Given the description of an element on the screen output the (x, y) to click on. 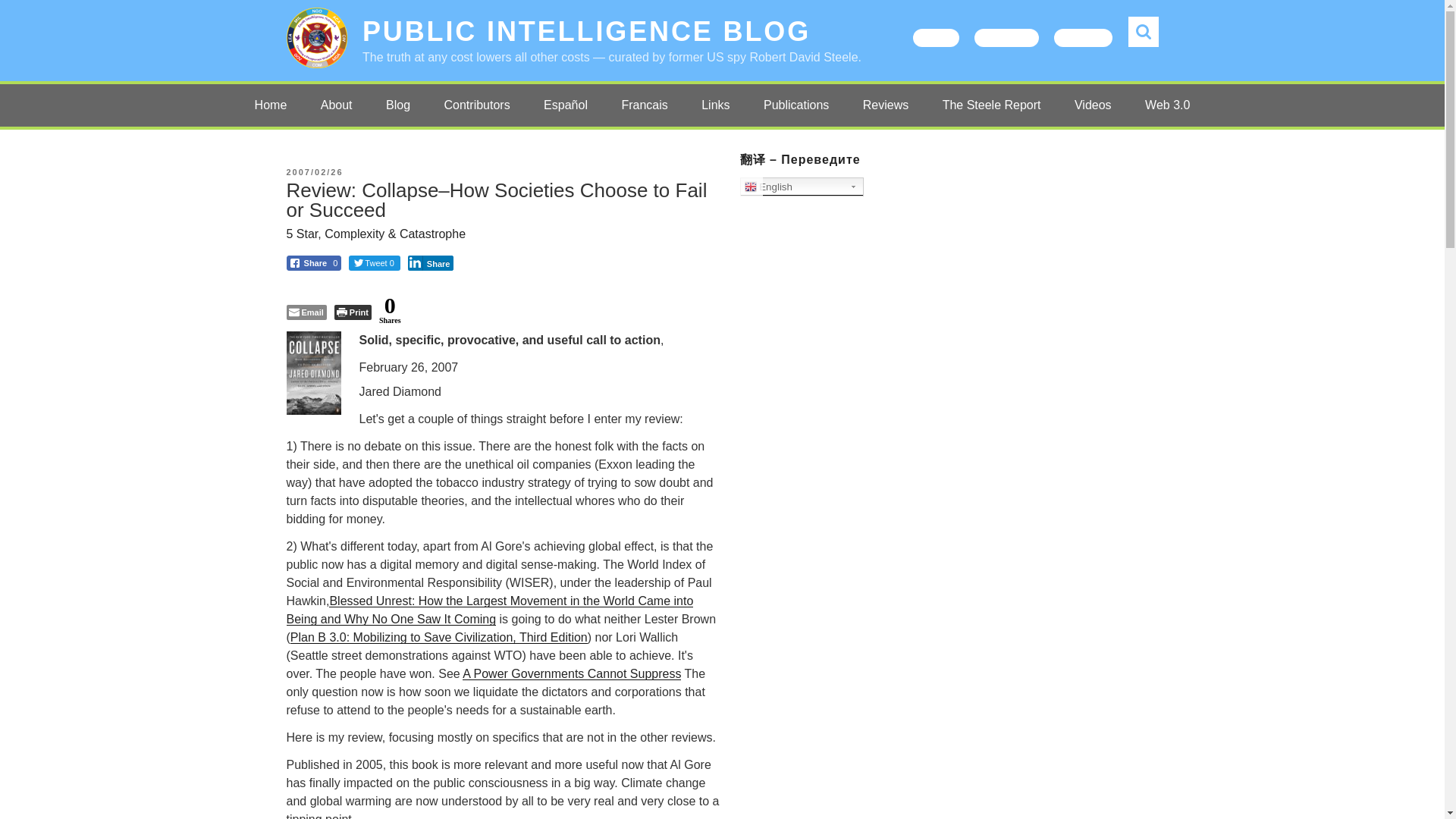
Email (306, 312)
Twitter (935, 37)
Reviews (885, 105)
Publications (796, 105)
A Power Governments Cannot Suppress (572, 673)
Videos (1092, 105)
5 Star (302, 233)
Tweet 0 (374, 263)
The Steele Report (992, 105)
Plan B 3.0: Mobilizing to Save Civilization, Third Edition (438, 636)
